Given the description of an element on the screen output the (x, y) to click on. 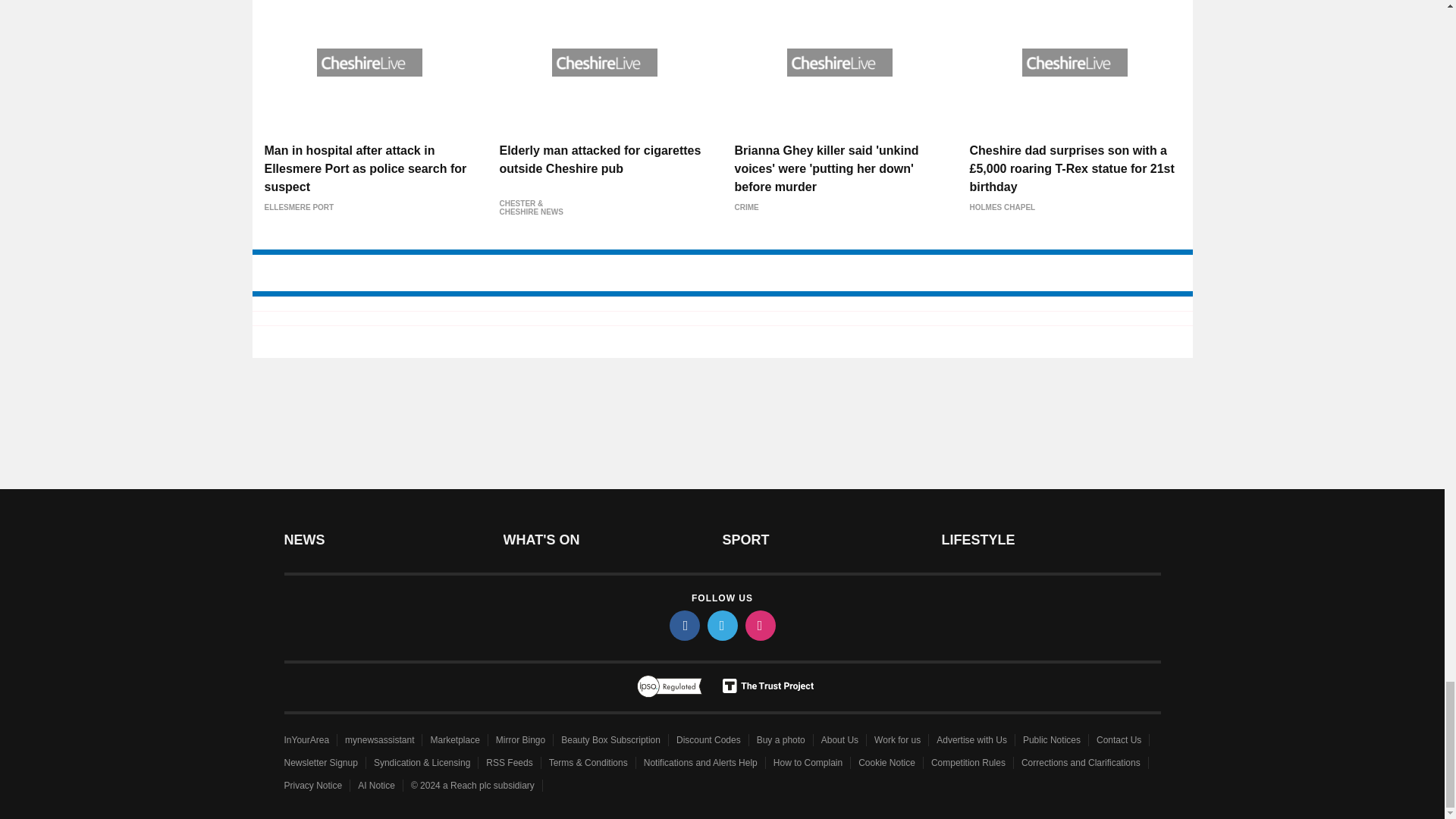
twitter (721, 625)
facebook (683, 625)
instagram (759, 625)
